Given the description of an element on the screen output the (x, y) to click on. 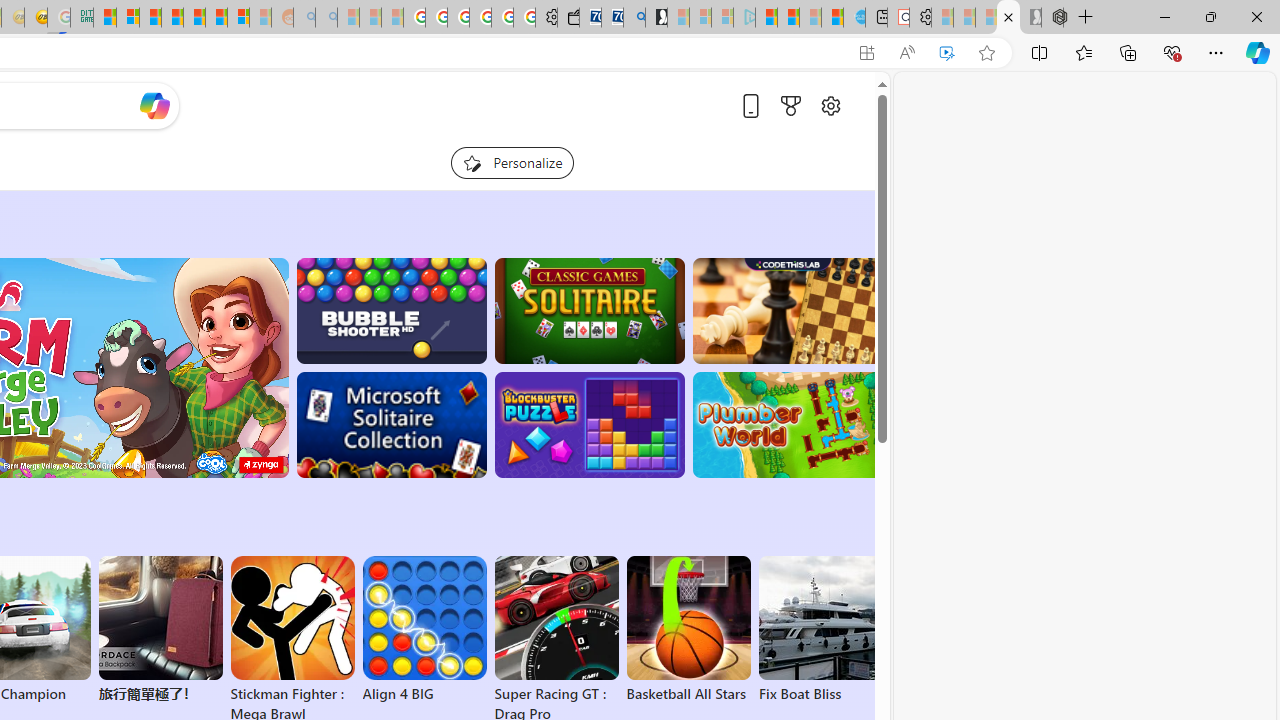
Bubble Shooter HD (390, 310)
Fix Boat Bliss (820, 694)
Plumber World (787, 425)
